Given the description of an element on the screen output the (x, y) to click on. 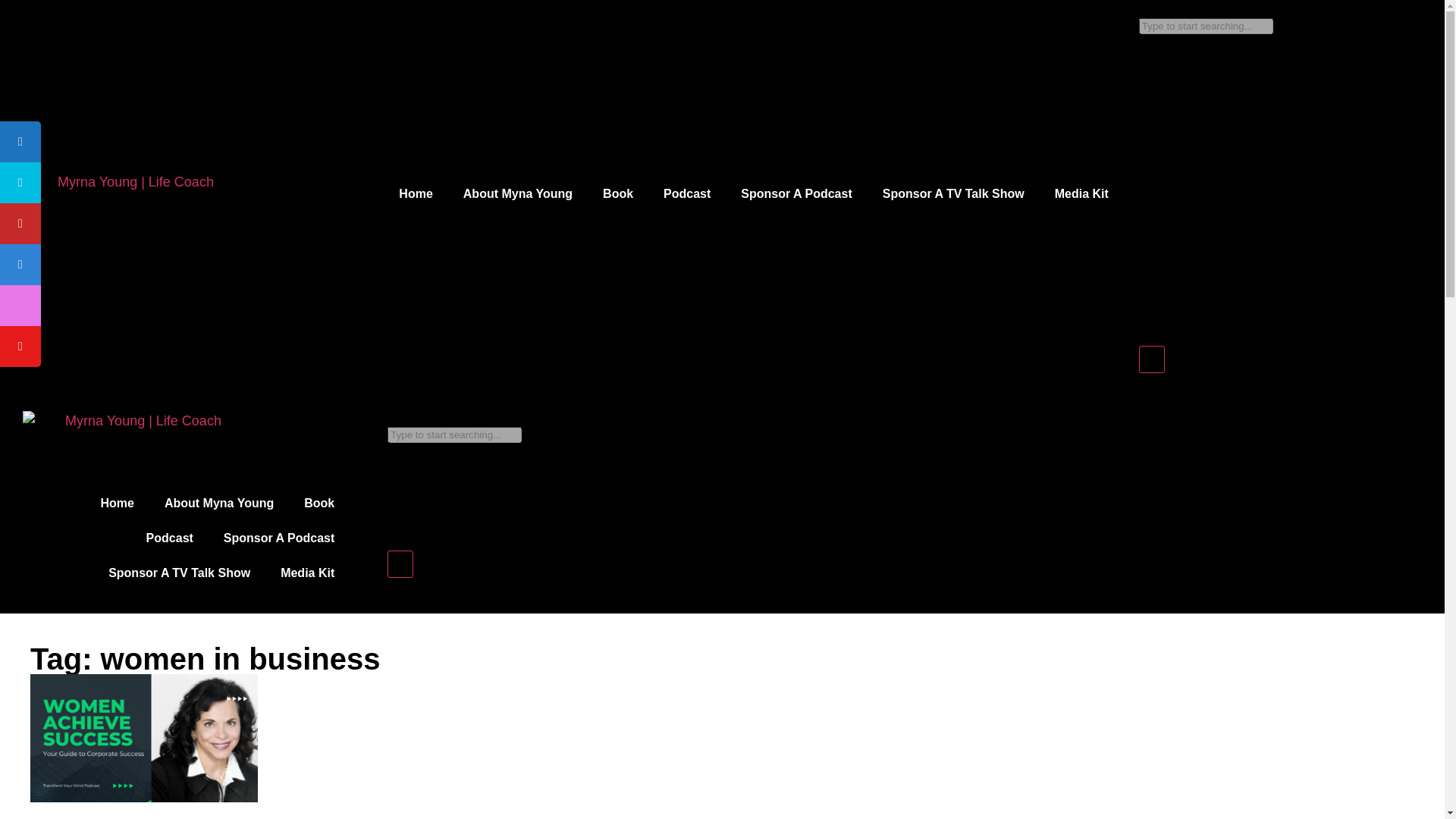
Media Kit (1081, 193)
Podcast (686, 193)
Sponsor A Podcast (278, 538)
Media Kit (306, 573)
Sponsor A Podcast (795, 193)
Sponsor A TV Talk Show (178, 573)
Home (117, 503)
Book (318, 503)
Sponsor A TV Talk Show (953, 193)
Book (617, 193)
